Given the description of an element on the screen output the (x, y) to click on. 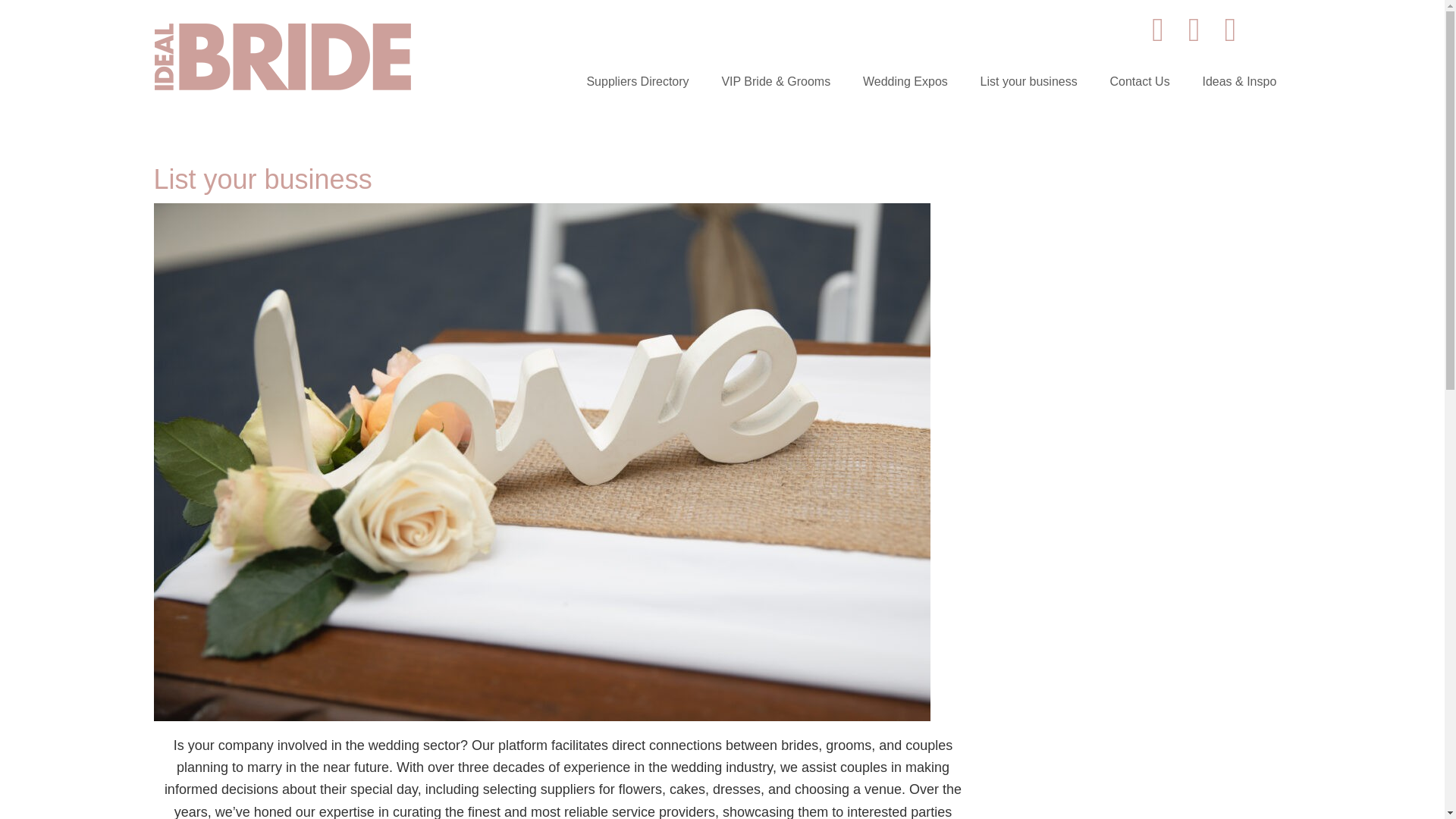
Ideal Bride (281, 87)
Suppliers Directory (637, 81)
